Given the description of an element on the screen output the (x, y) to click on. 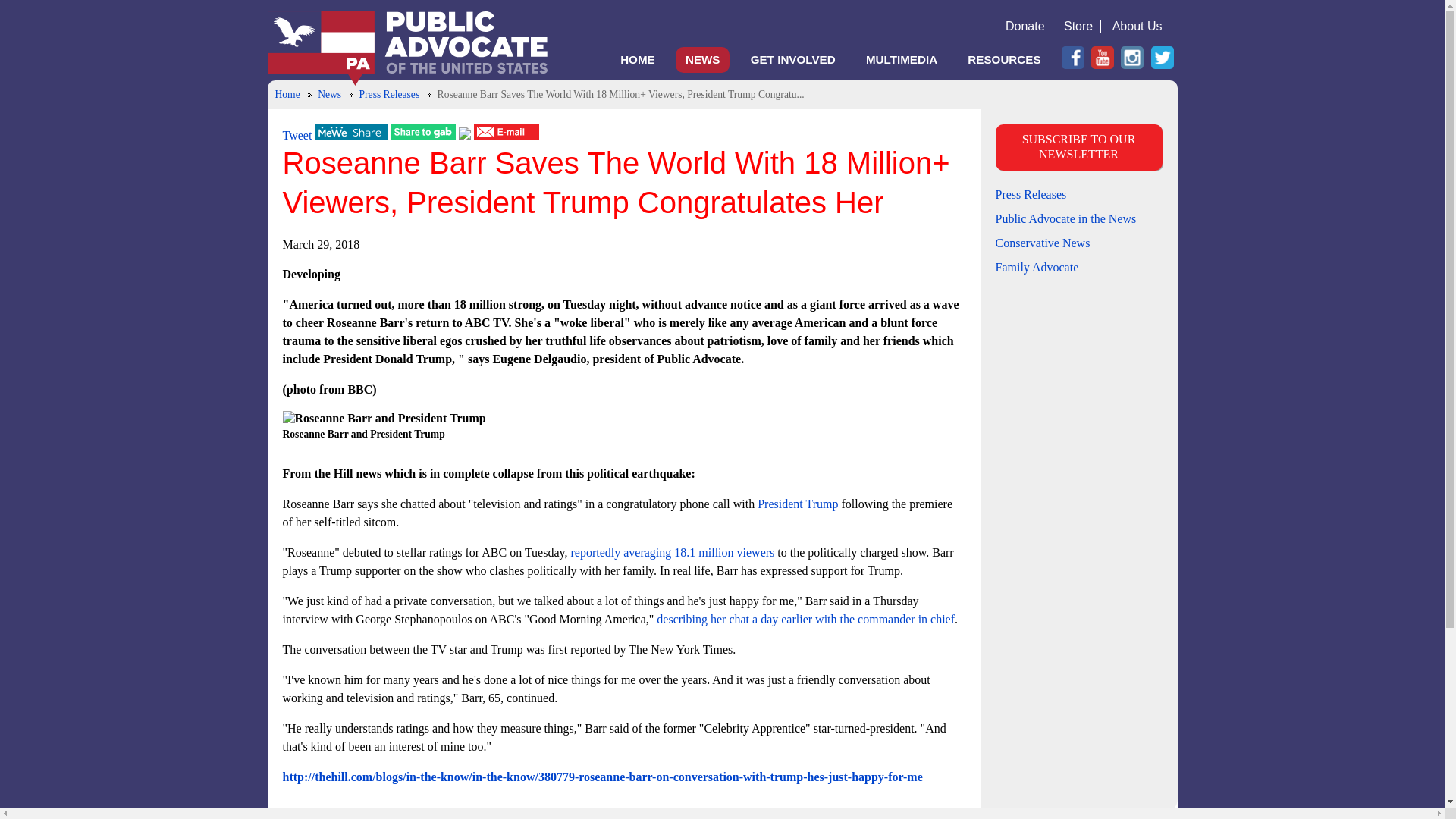
SUBSCRIBE TO OUR NEWSLETTER (1077, 147)
HOME (637, 59)
NEWS (702, 59)
TWITTER (1162, 56)
Press Releases (389, 93)
Public Advocate of the U.S. (406, 51)
reportedly averaging 18.1 million viewers (672, 552)
Return to Home page (406, 51)
Donate (1024, 25)
News (328, 93)
FACEBOOK (1072, 56)
GET INVOLVED (793, 59)
About Us (1137, 25)
YOUTUBE (1101, 56)
